Given the description of an element on the screen output the (x, y) to click on. 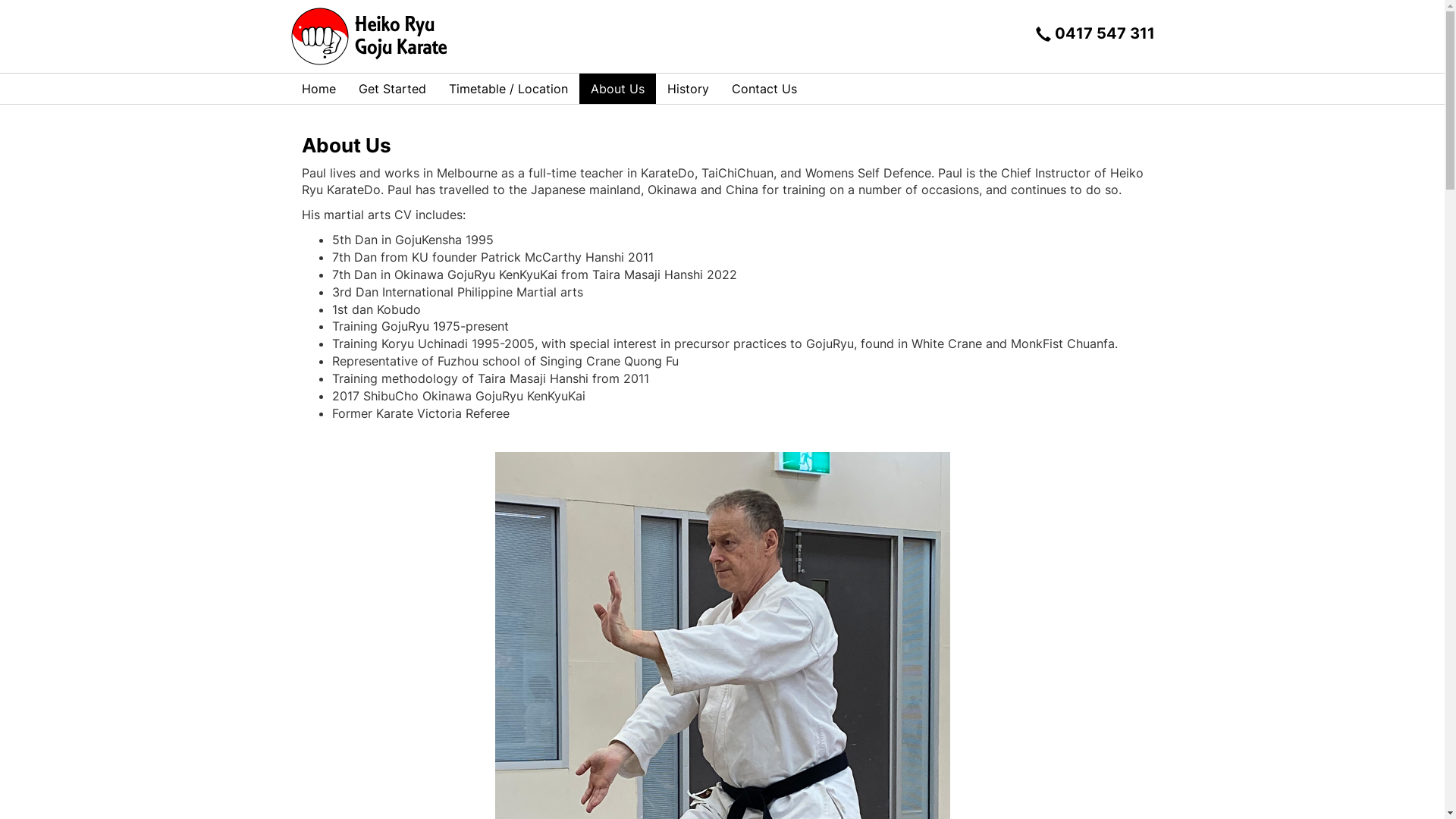
Contact Us Element type: text (764, 88)
Get Started Element type: text (392, 88)
Timetable / Location Element type: text (507, 88)
History Element type: text (687, 88)
Home Element type: text (317, 88)
About Us Element type: text (617, 88)
0417 547 311 Element type: text (1094, 35)
Skip to main content Element type: text (0, 0)
Heiko Ryu Goju Karate Element type: hover (373, 36)
